Given the description of an element on the screen output the (x, y) to click on. 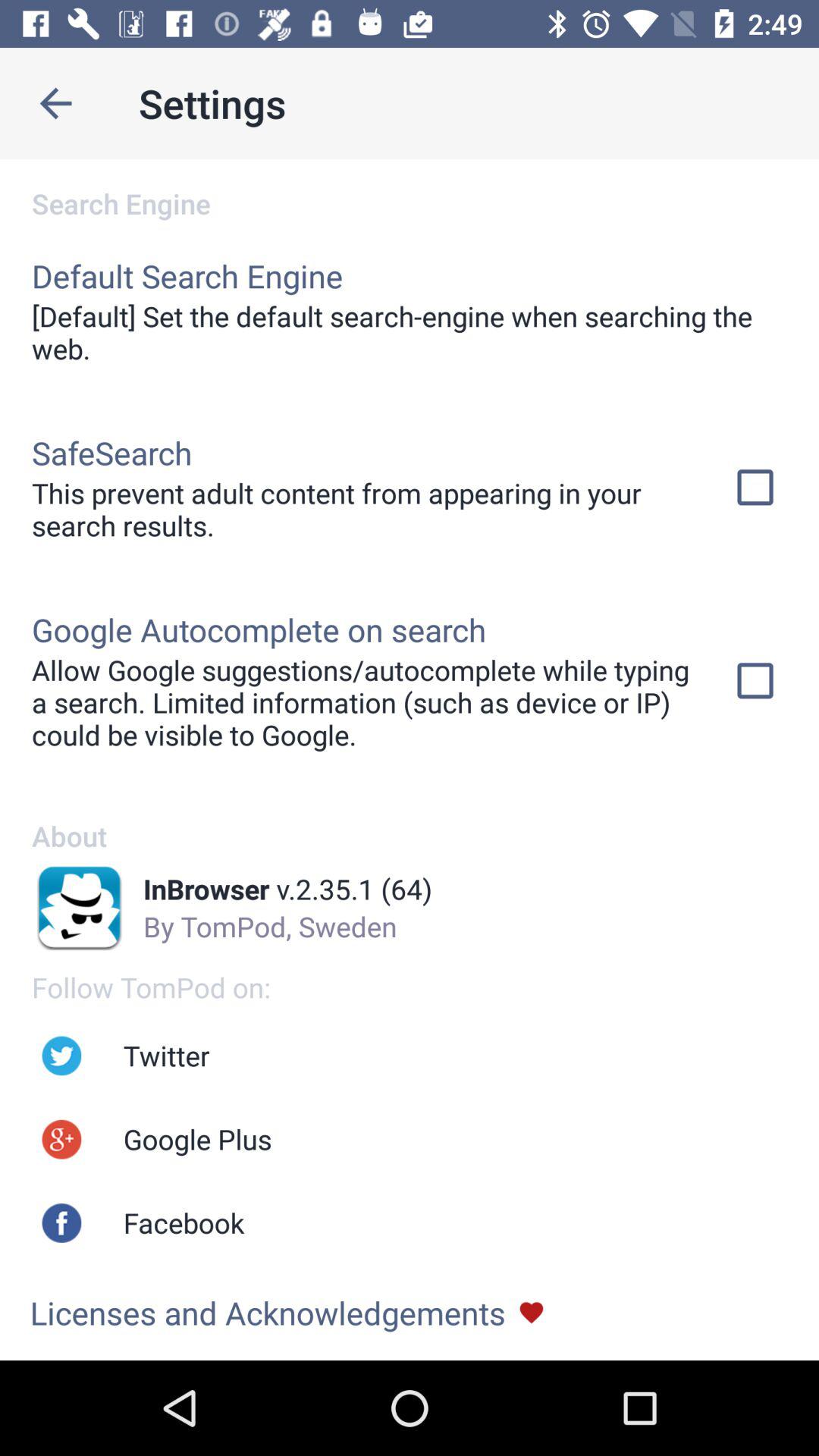
turn off the twitter (166, 1055)
